Given the description of an element on the screen output the (x, y) to click on. 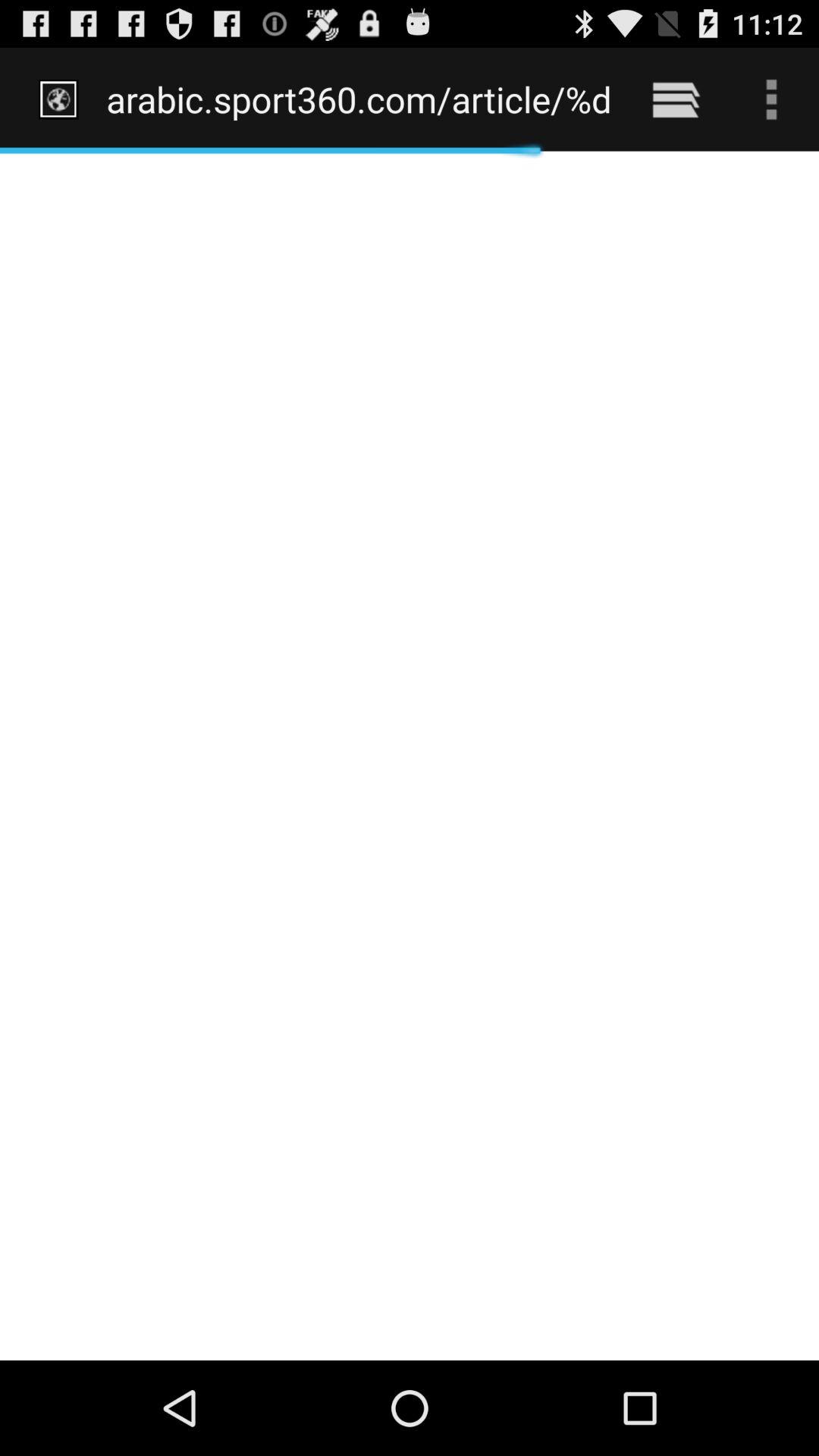
turn off item at the center (409, 755)
